Given the description of an element on the screen output the (x, y) to click on. 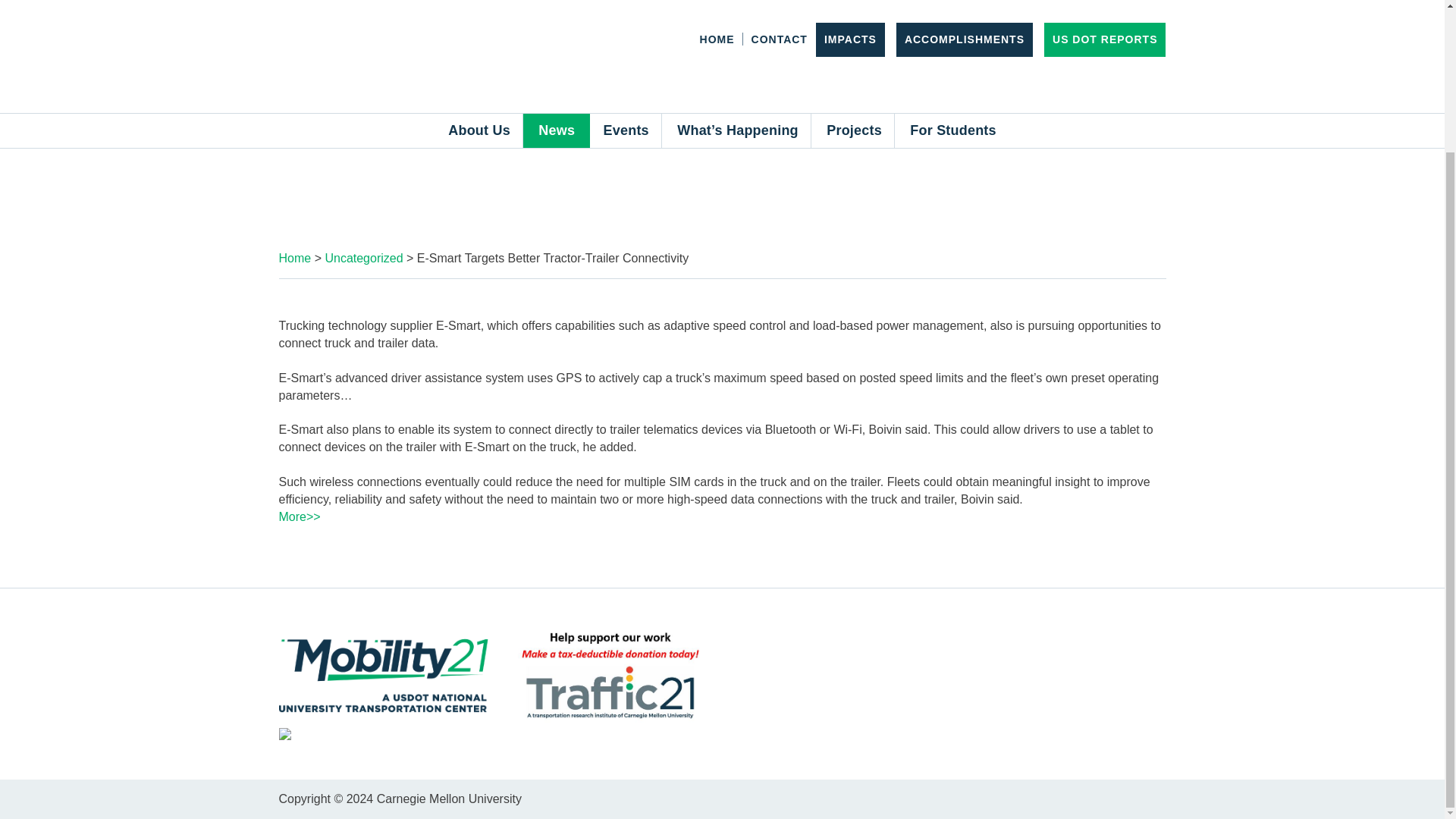
Go to the Uncategorized category archives. (363, 257)
Go to M21. (295, 257)
